Given the description of an element on the screen output the (x, y) to click on. 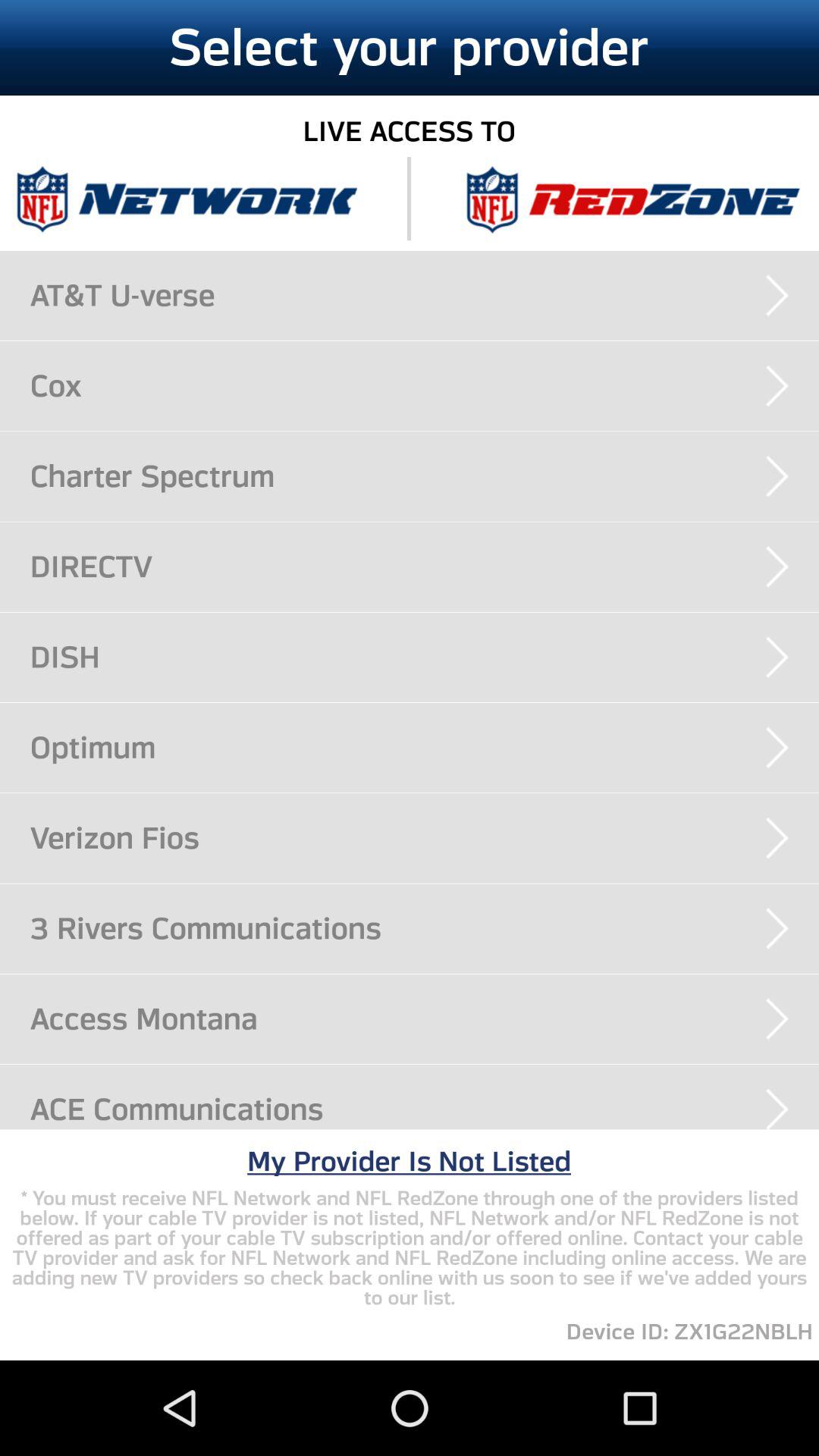
choose 3 rivers communications icon (424, 928)
